Given the description of an element on the screen output the (x, y) to click on. 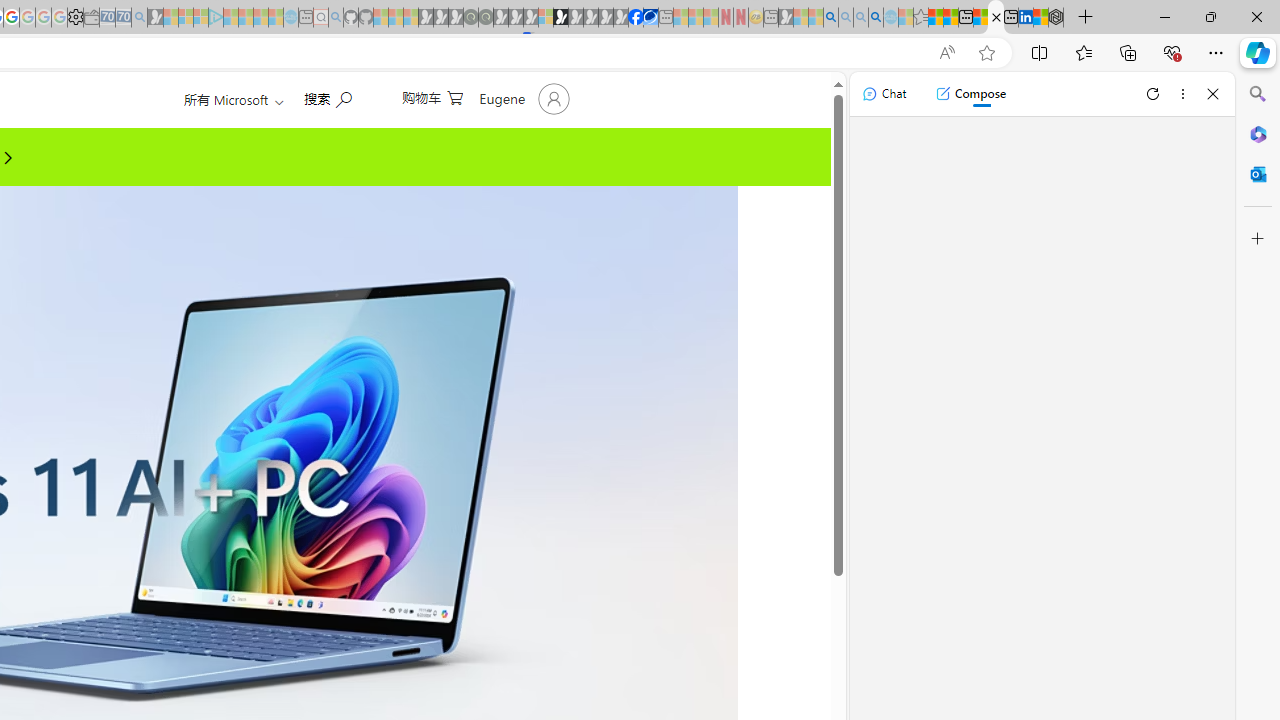
Nordace - Summer Adventures 2024 (1055, 17)
Nordace | Facebook (635, 17)
Microsoft Start - Sleeping (260, 17)
AQI & Health | AirNow.gov (650, 17)
Sign in to your account - Sleeping (545, 17)
